Given the description of an element on the screen output the (x, y) to click on. 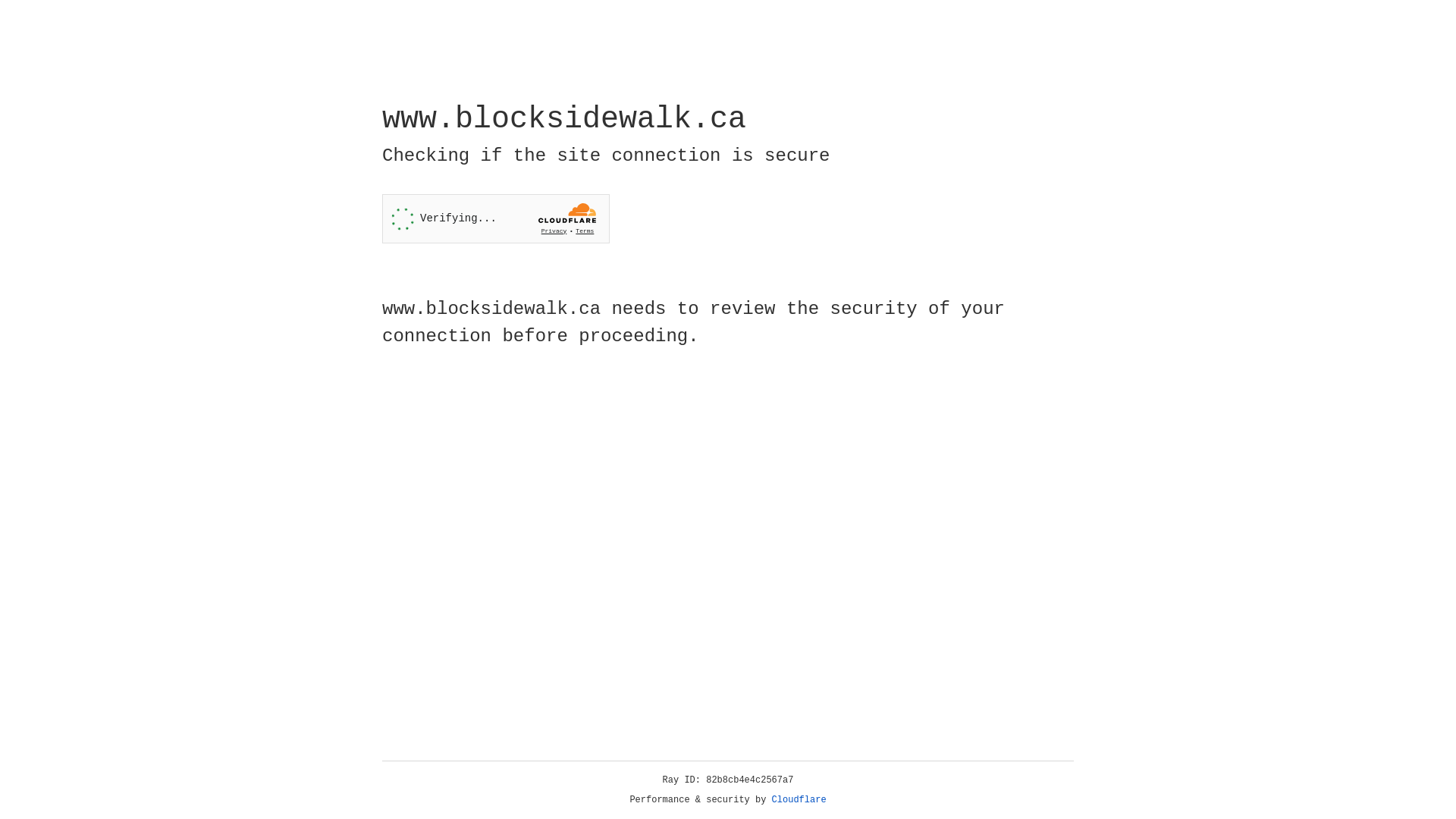
Widget containing a Cloudflare security challenge Element type: hover (495, 218)
Cloudflare Element type: text (798, 799)
